Given the description of an element on the screen output the (x, y) to click on. 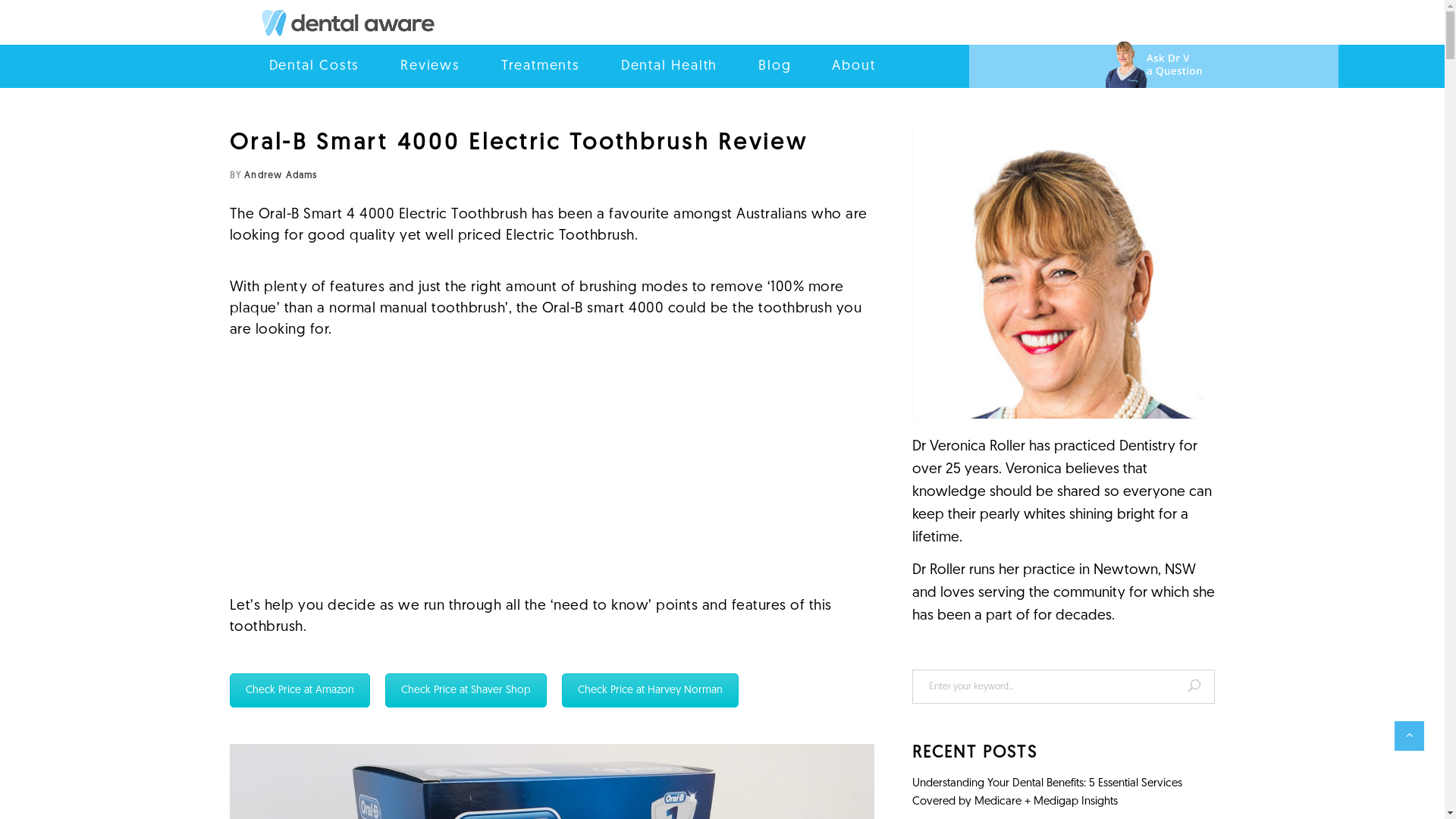
Blog Element type: text (774, 65)
Advertisement Element type: hover (551, 468)
Dental Costs Element type: text (313, 65)
Dental Health Element type: text (669, 65)
Search for: Element type: hover (1044, 686)
About Element type: text (853, 65)
Check Price at Amazon Element type: text (299, 690)
Check Price at Shaver Shop Element type: text (465, 690)
Andrew Adams Element type: text (280, 175)
Reviews Element type: text (429, 65)
Check Price at Harvey Norman Element type: text (649, 690)
Treatments Element type: text (540, 65)
